Given the description of an element on the screen output the (x, y) to click on. 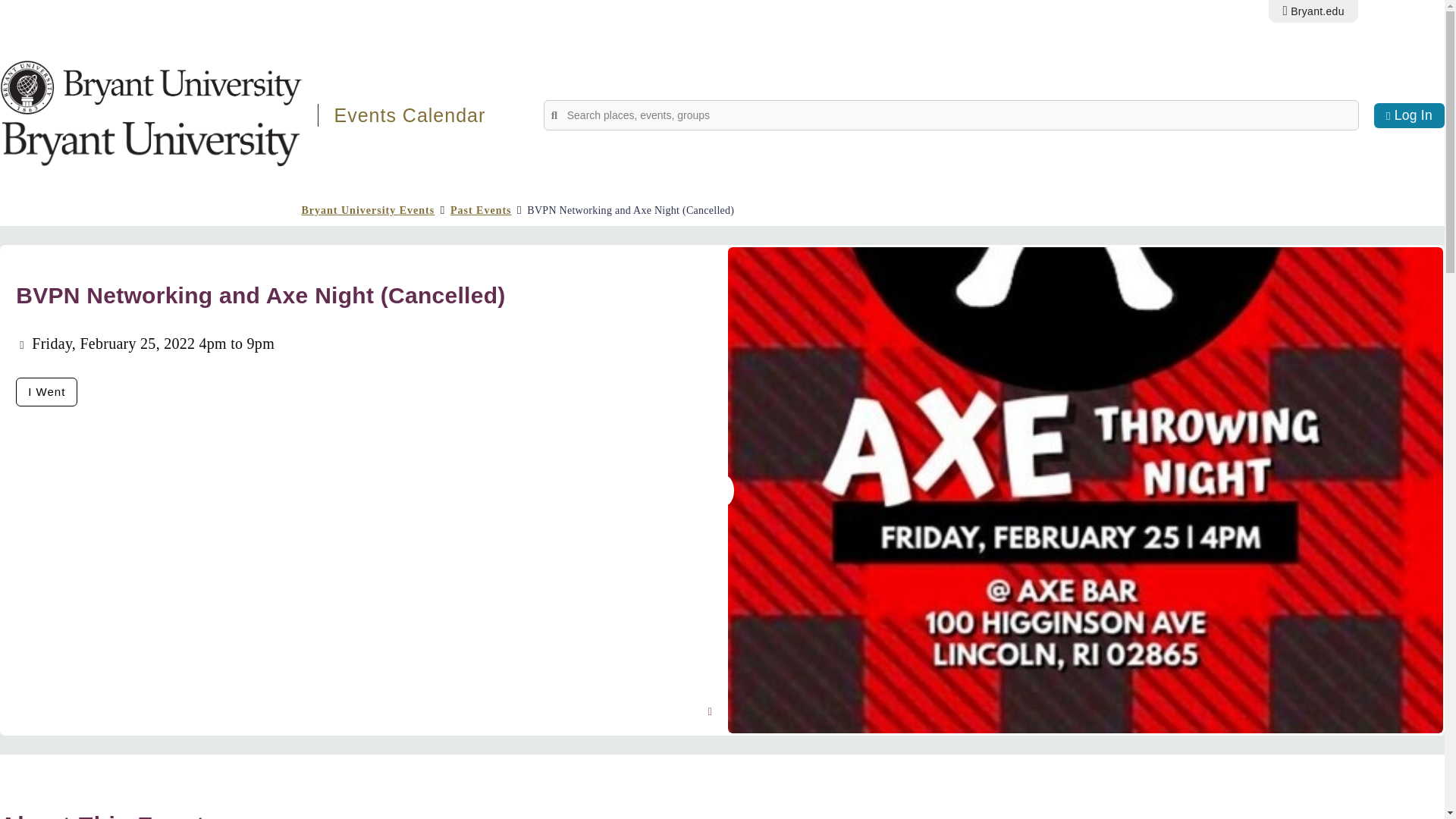
Events Calendar (408, 115)
I Went (46, 391)
Bryant University Events (368, 210)
Past Events (480, 210)
Bryant.edu (1312, 11)
Home (151, 137)
